Given the description of an element on the screen output the (x, y) to click on. 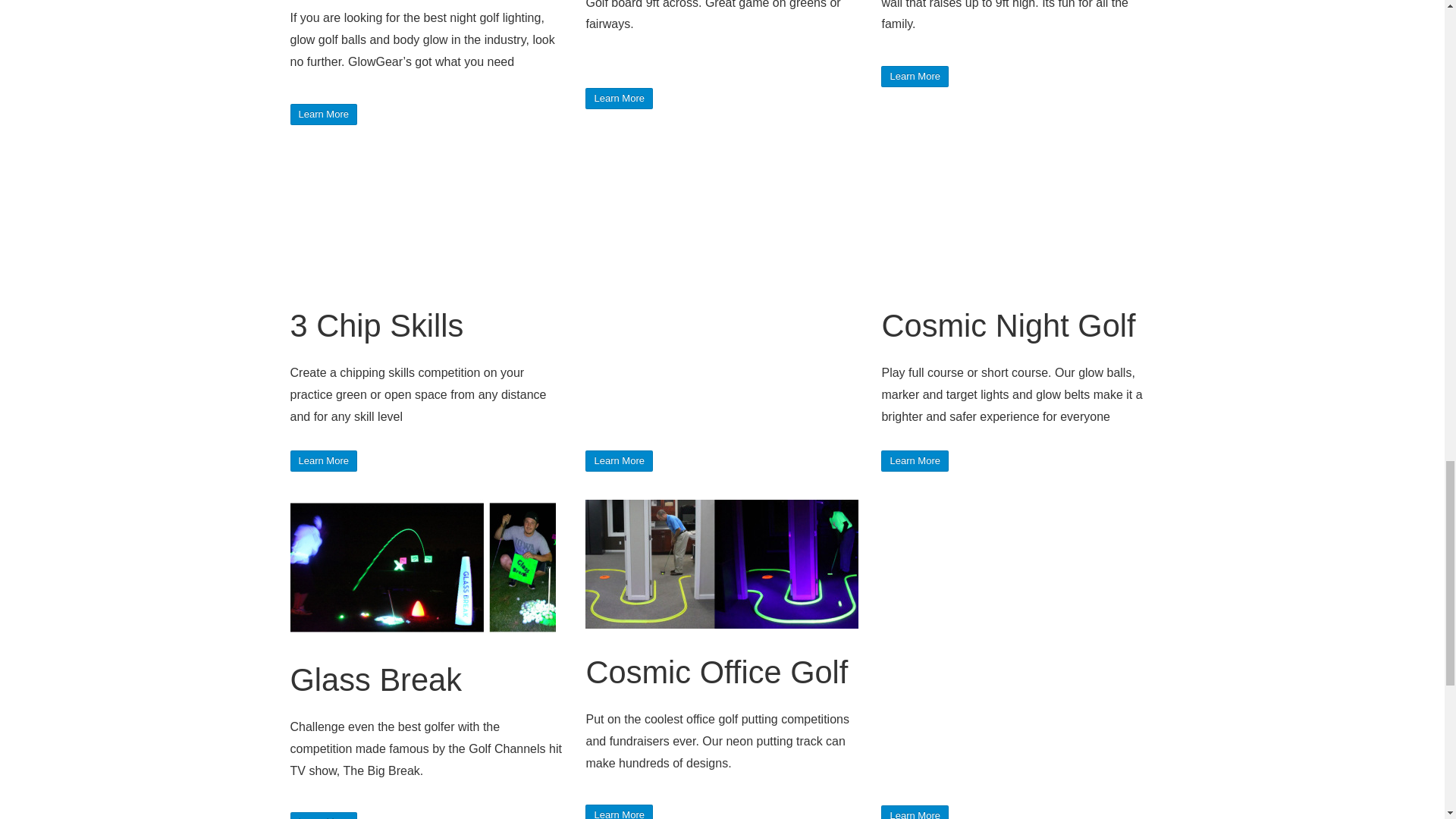
Learn More (913, 460)
Learn More (618, 97)
Breitling replica (626, 45)
Learn More (322, 460)
Replica Tag Heuer (686, 23)
fake watches (1028, 23)
Learn More (618, 460)
Learn More (913, 460)
Learn More (322, 817)
fake watches (706, 45)
fake watches (954, 23)
Learn More (322, 113)
Learn More (618, 97)
Learn More (913, 813)
Learn More (322, 460)
